Given the description of an element on the screen output the (x, y) to click on. 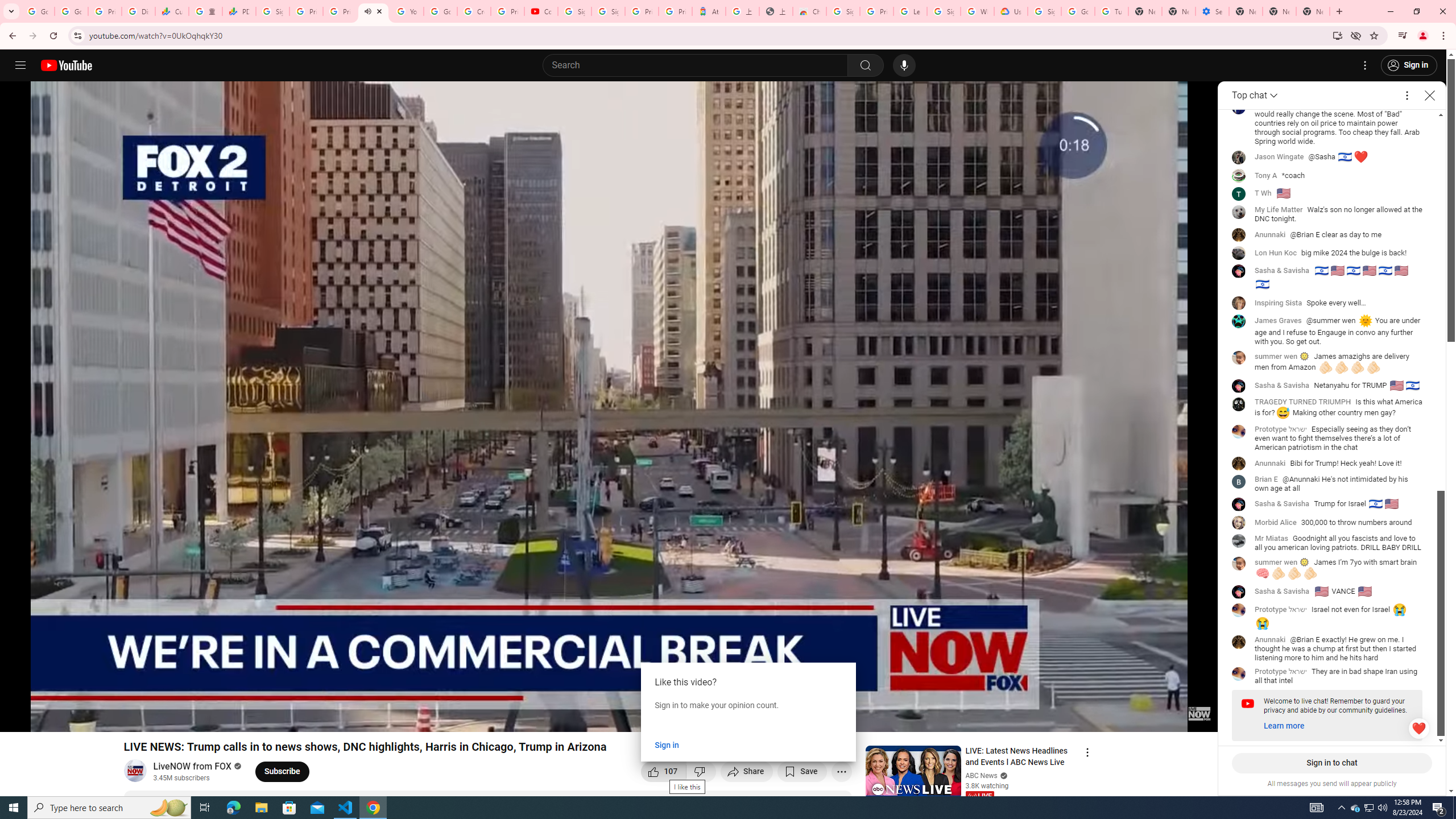
Play (k) (20, 718)
Sign in - Google Accounts (608, 11)
Google Account Help (1077, 11)
Channel watermark (1199, 713)
PDD Holdings Inc - ADR (PDD) Price & News - Google Finance (238, 11)
Theater mode keyboard shortcut t (1169, 718)
